Given the description of an element on the screen output the (x, y) to click on. 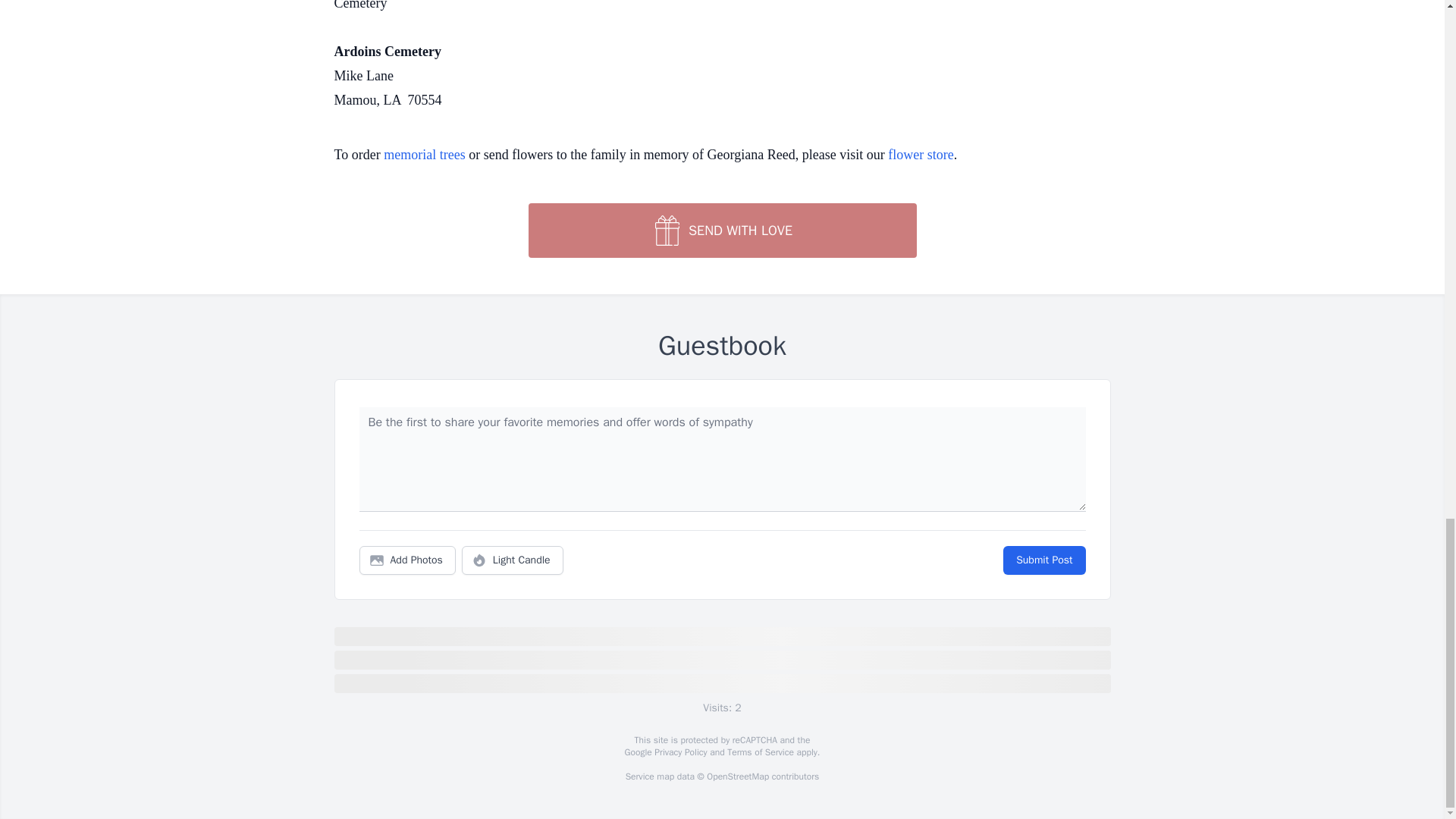
Terms of Service (759, 752)
Add Photos (407, 560)
Light Candle (512, 560)
memorial trees (424, 154)
SEND WITH LOVE (721, 230)
Submit Post (1043, 560)
OpenStreetMap (737, 776)
Privacy Policy (679, 752)
flower store (920, 154)
